Given the description of an element on the screen output the (x, y) to click on. 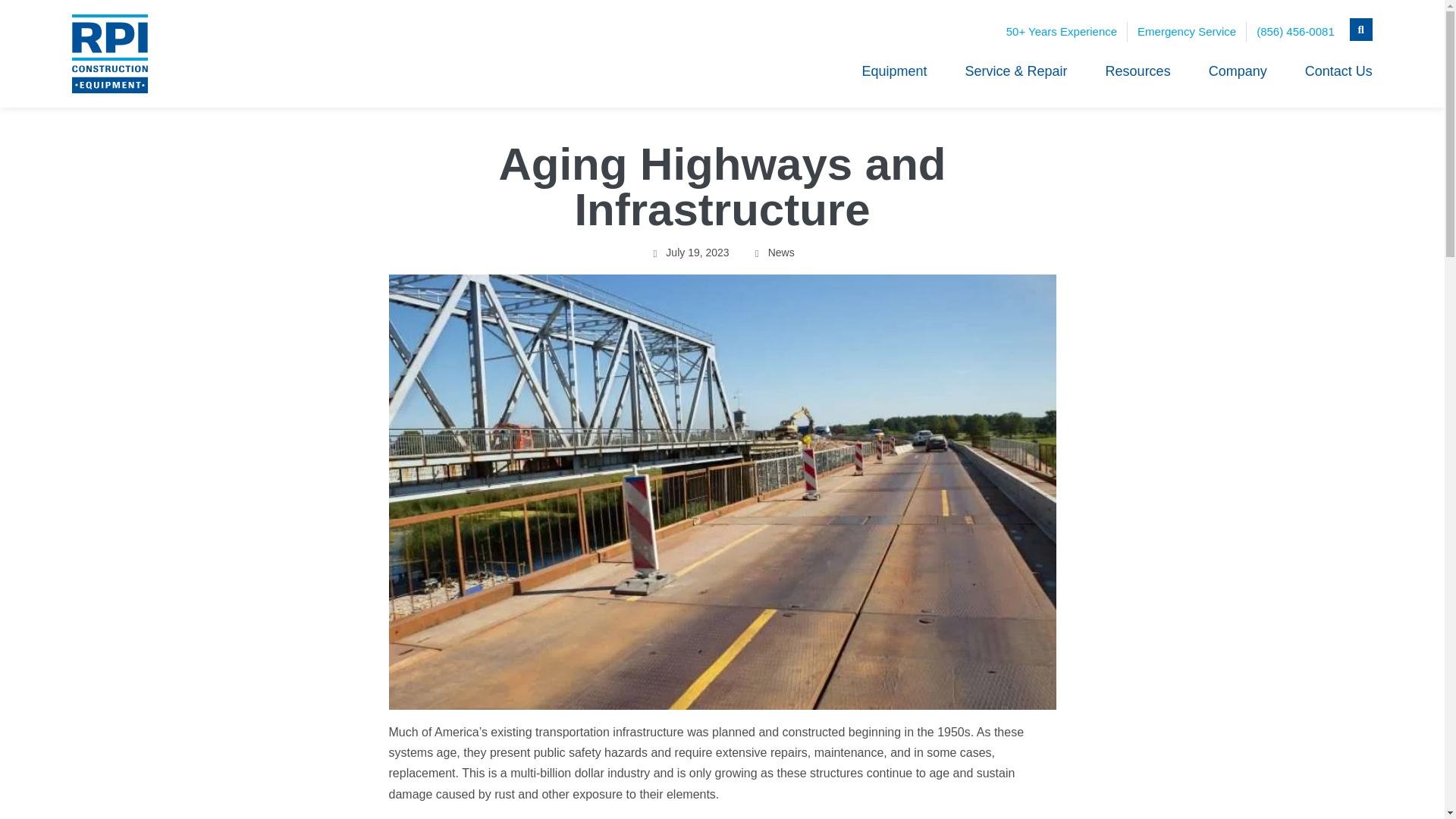
Equipment (893, 70)
Resources (1137, 70)
Company (1237, 70)
Contact Us (1338, 70)
Emergency Service (1186, 31)
